Given the description of an element on the screen output the (x, y) to click on. 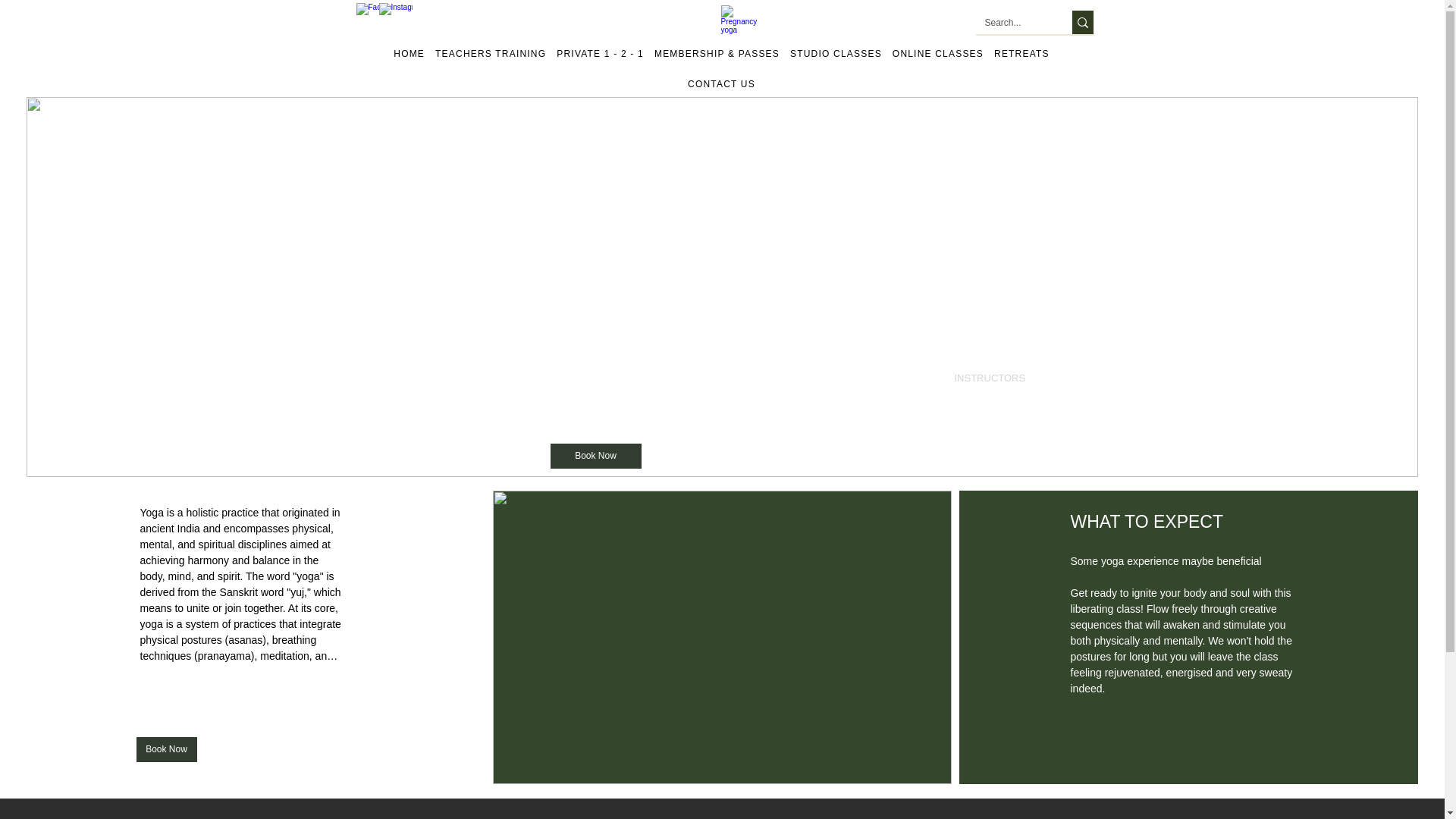
HOME (409, 53)
TEACHERS TRAINING (490, 53)
PRIVATE 1 - 2 - 1 (599, 53)
